Given the description of an element on the screen output the (x, y) to click on. 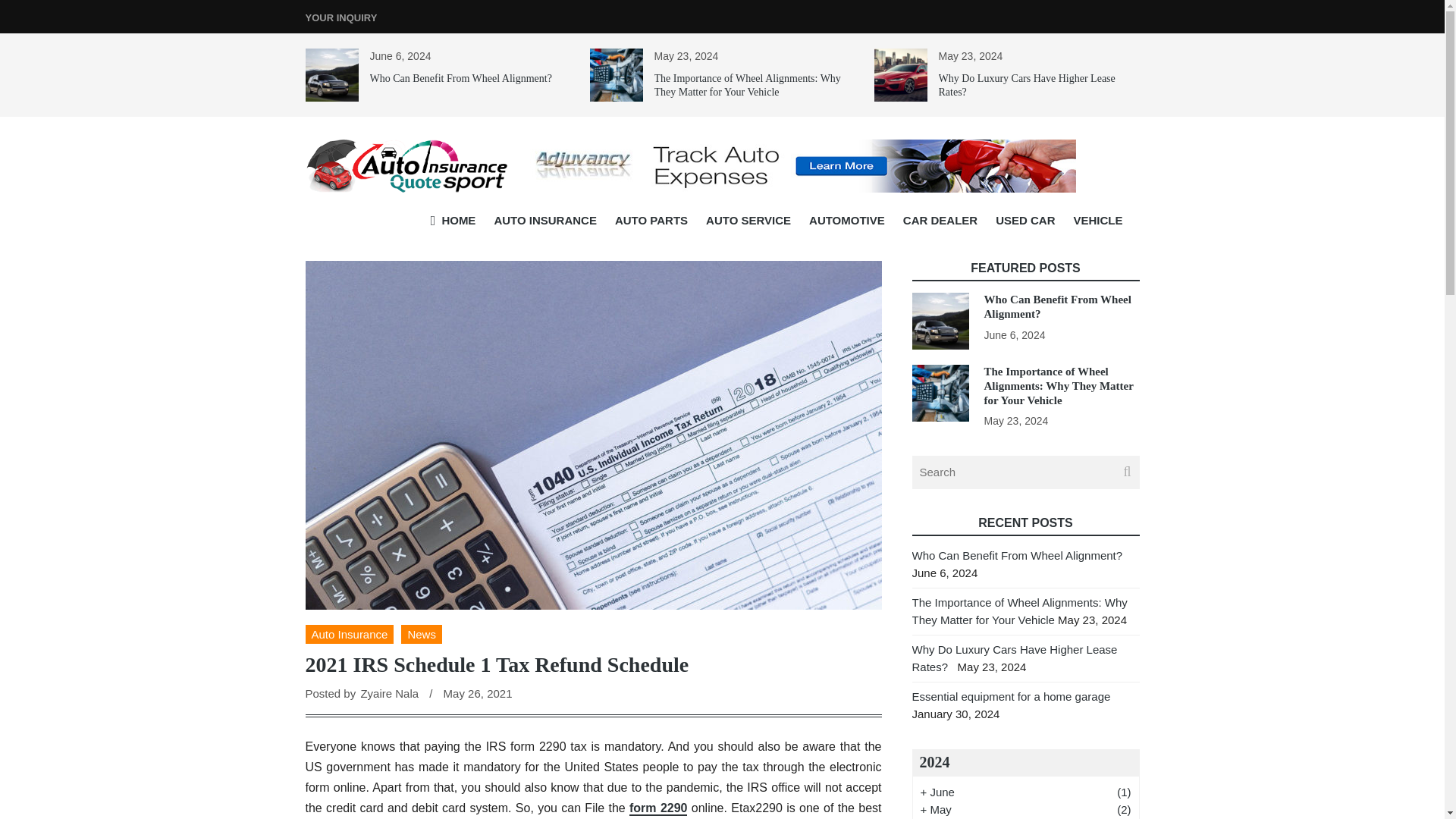
Posts by Zyaire Nala (389, 693)
VEHICLE (1097, 220)
AUTOMOTIVE (846, 220)
AUTO INSURANCE (544, 220)
Why Do Luxury Cars Have Higher Lease Rates?   (1027, 84)
News (421, 633)
HOME (453, 220)
Who Can Benefit From Wheel Alignment? (460, 78)
form 2290 (657, 808)
AUTO SERVICE (748, 220)
USED CAR (1025, 220)
CAR DEALER (940, 220)
YOUR INQUIRY (340, 17)
Zyaire Nala (389, 693)
Auto Insurance (348, 633)
